Given the description of an element on the screen output the (x, y) to click on. 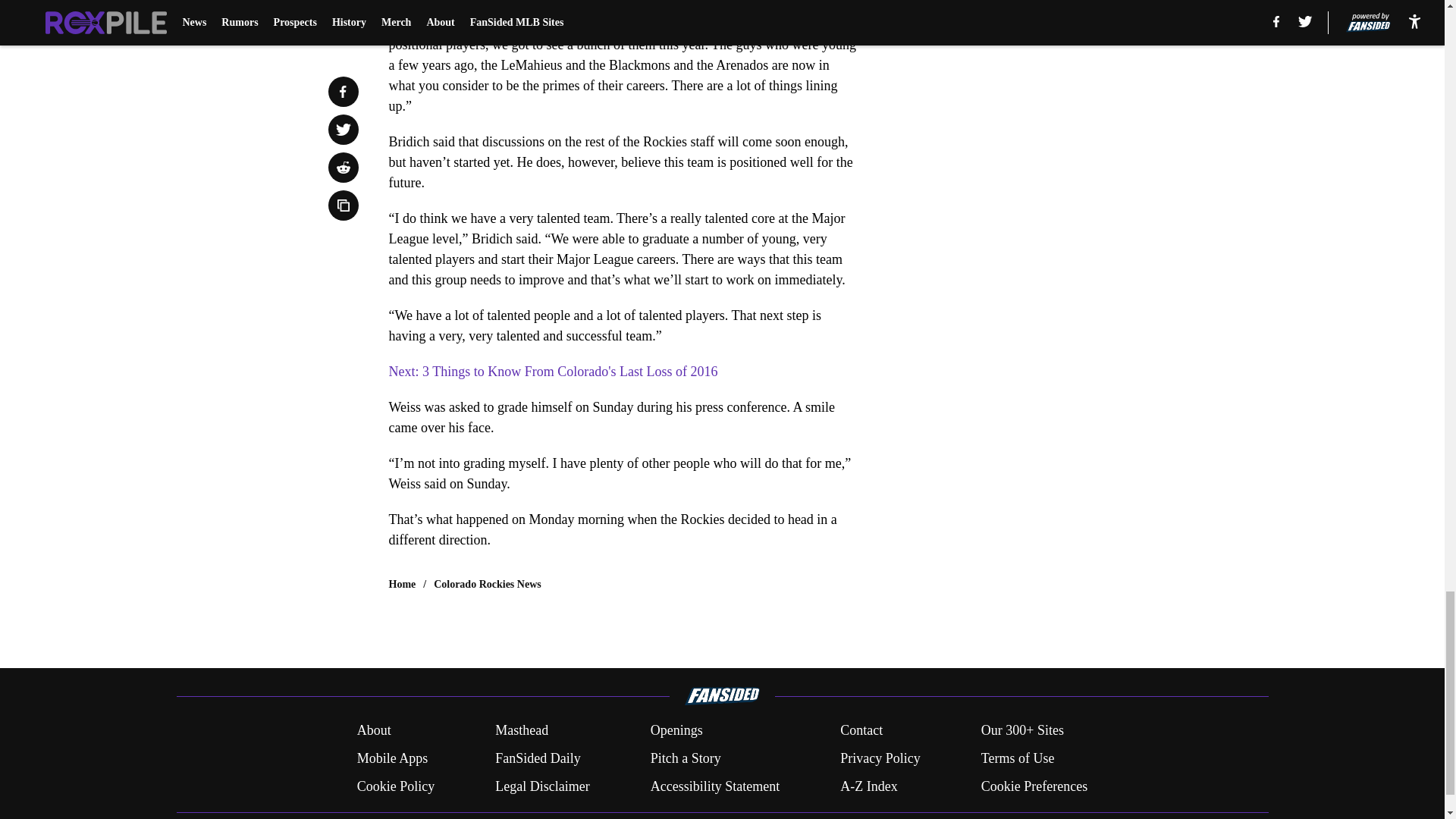
Next: 3 Things to Know From Colorado's Last Loss of 2016 (552, 371)
Colorado Rockies News (487, 584)
About (373, 730)
Masthead (521, 730)
FanSided Daily (537, 758)
Contact (861, 730)
Mobile Apps (392, 758)
Home (401, 584)
Pitch a Story (685, 758)
Openings (676, 730)
Privacy Policy (880, 758)
